Given the description of an element on the screen output the (x, y) to click on. 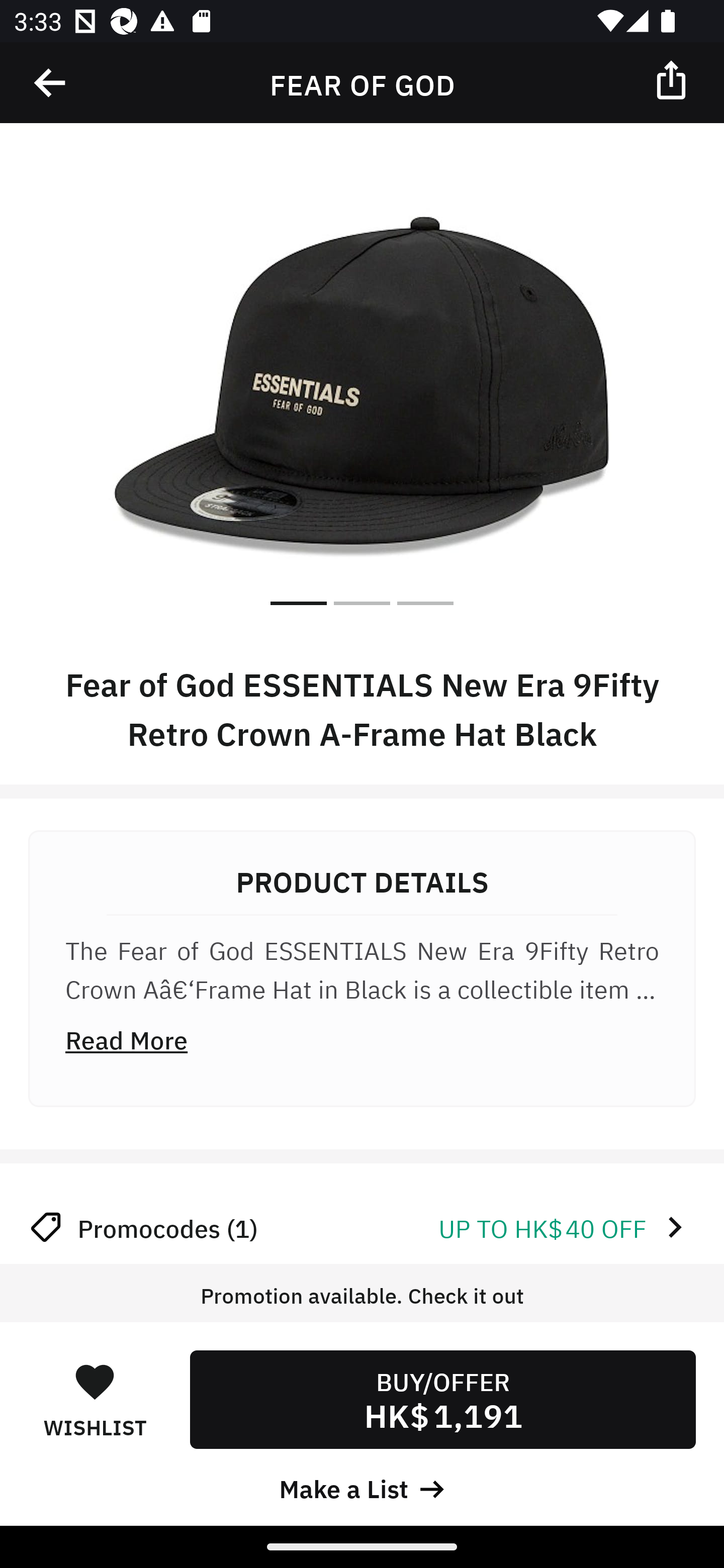
 (50, 83)
 (672, 79)
Promocodes (1) UP TO HK$ 40 OFF  (361, 1226)
BUY/OFFER HK$ 1,191 (442, 1399)
󰋑 (94, 1380)
Make a List (361, 1486)
